Given the description of an element on the screen output the (x, y) to click on. 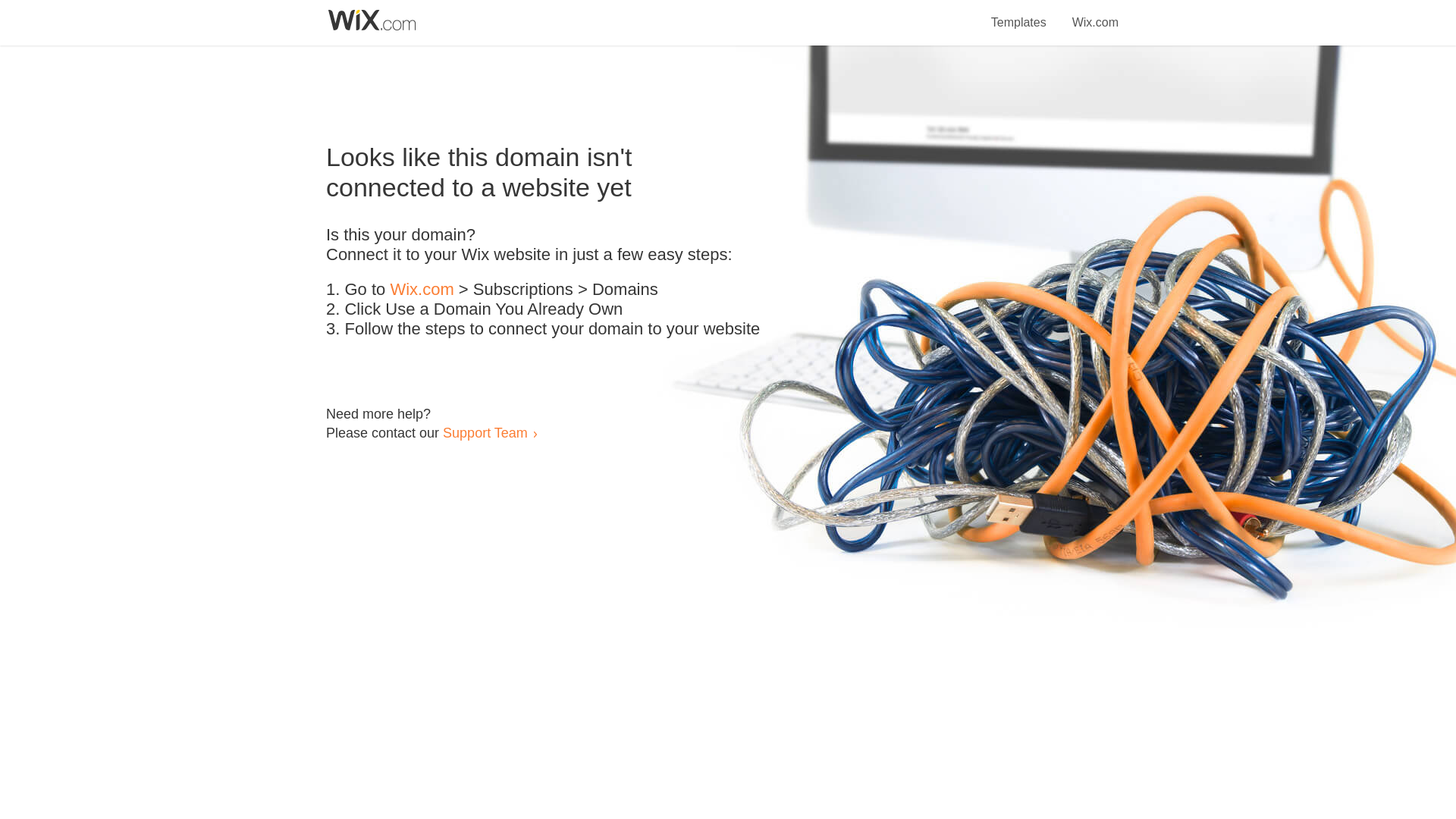
Wix.com (421, 289)
Support Team (484, 432)
Wix.com (1095, 14)
Templates (1018, 14)
